Given the description of an element on the screen output the (x, y) to click on. 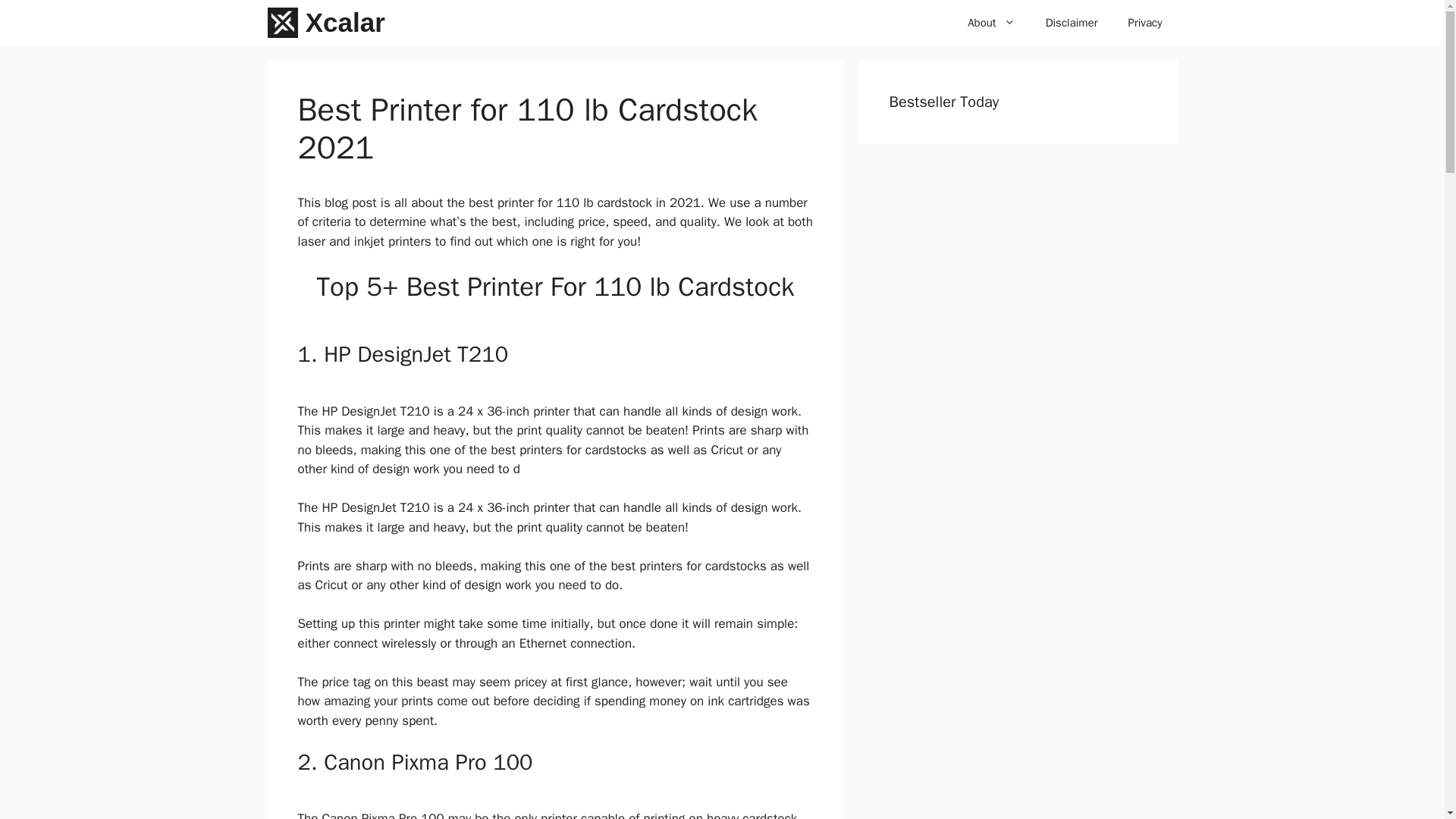
Xcalar (345, 22)
Disclaimer (1071, 22)
About (990, 22)
Privacy (1145, 22)
